Given the description of an element on the screen output the (x, y) to click on. 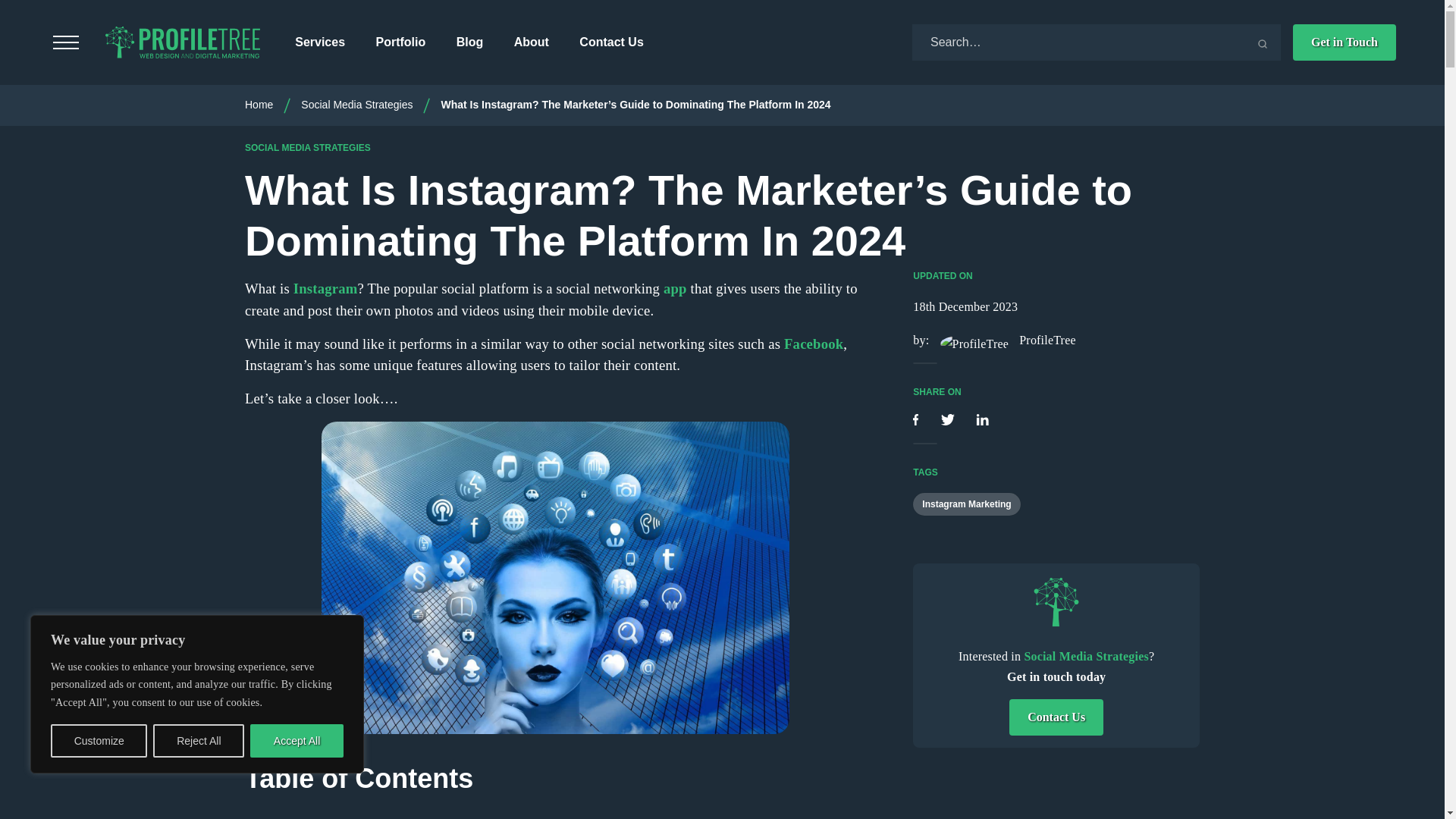
app (675, 288)
Get in Touch (1344, 42)
About (530, 42)
Accept All (296, 740)
Share on Twitter (949, 420)
Customize (98, 740)
Reject All (198, 740)
Blog (470, 42)
SOCIAL MEDIA STRATEGIES (307, 147)
Social Media Strategies blogposts by ProfileTree (1056, 601)
